Given the description of an element on the screen output the (x, y) to click on. 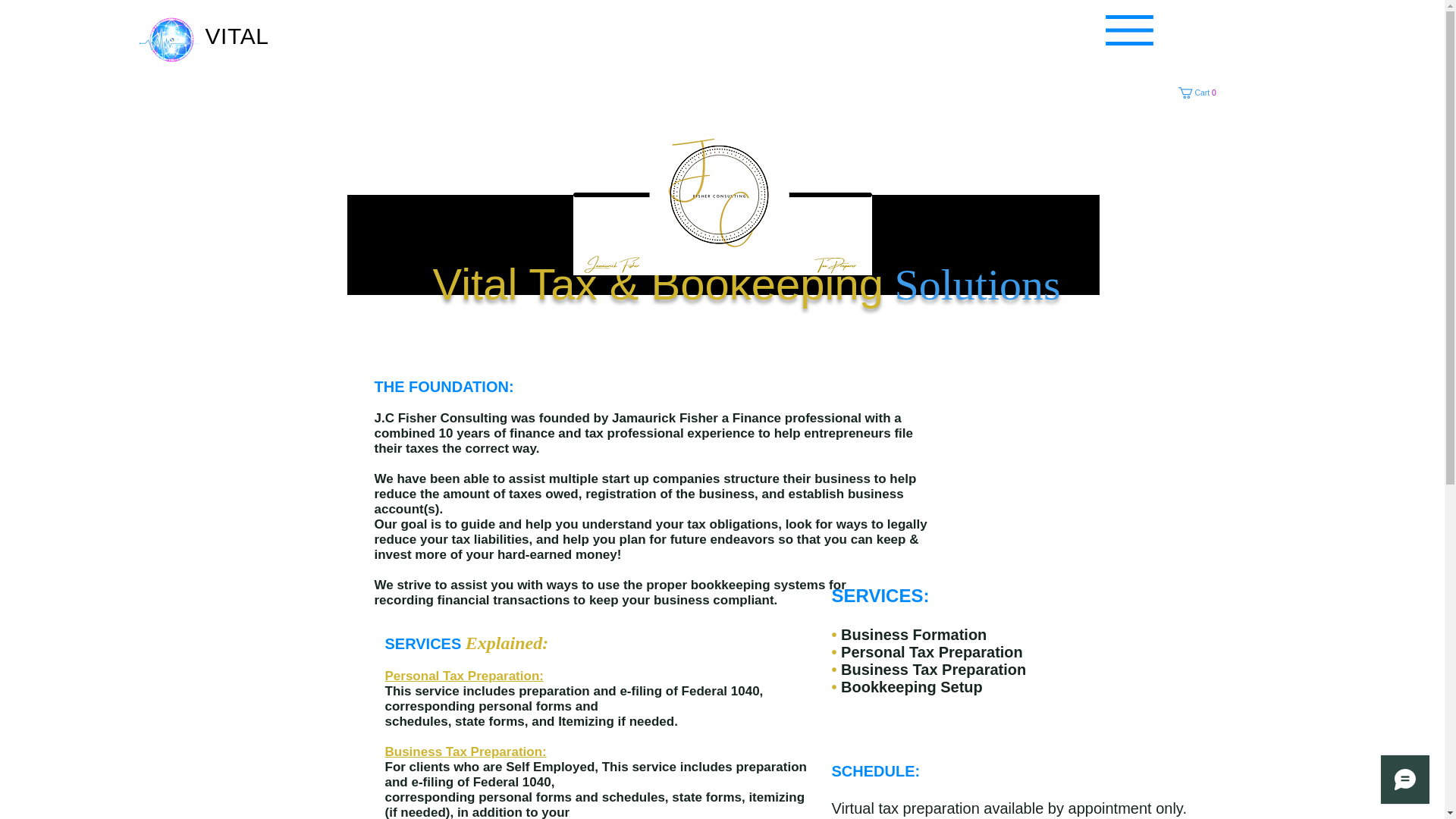
VITAL (1199, 92)
